Given the description of an element on the screen output the (x, y) to click on. 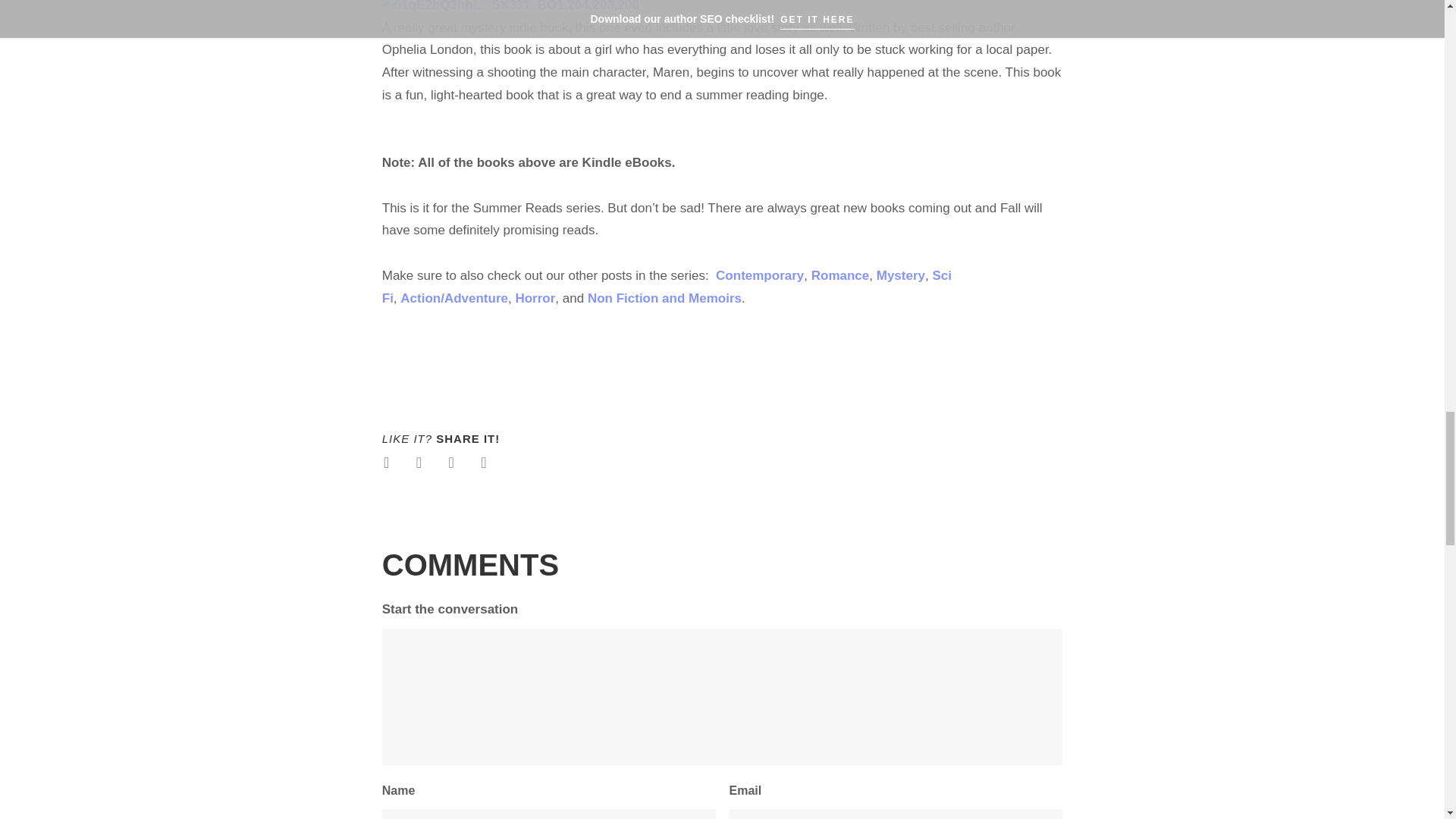
Horror (534, 298)
Romance (839, 275)
Sci Fi (666, 287)
Contemporary (759, 275)
Mystery (900, 275)
Non Fiction and Memoirs (664, 298)
